Given the description of an element on the screen output the (x, y) to click on. 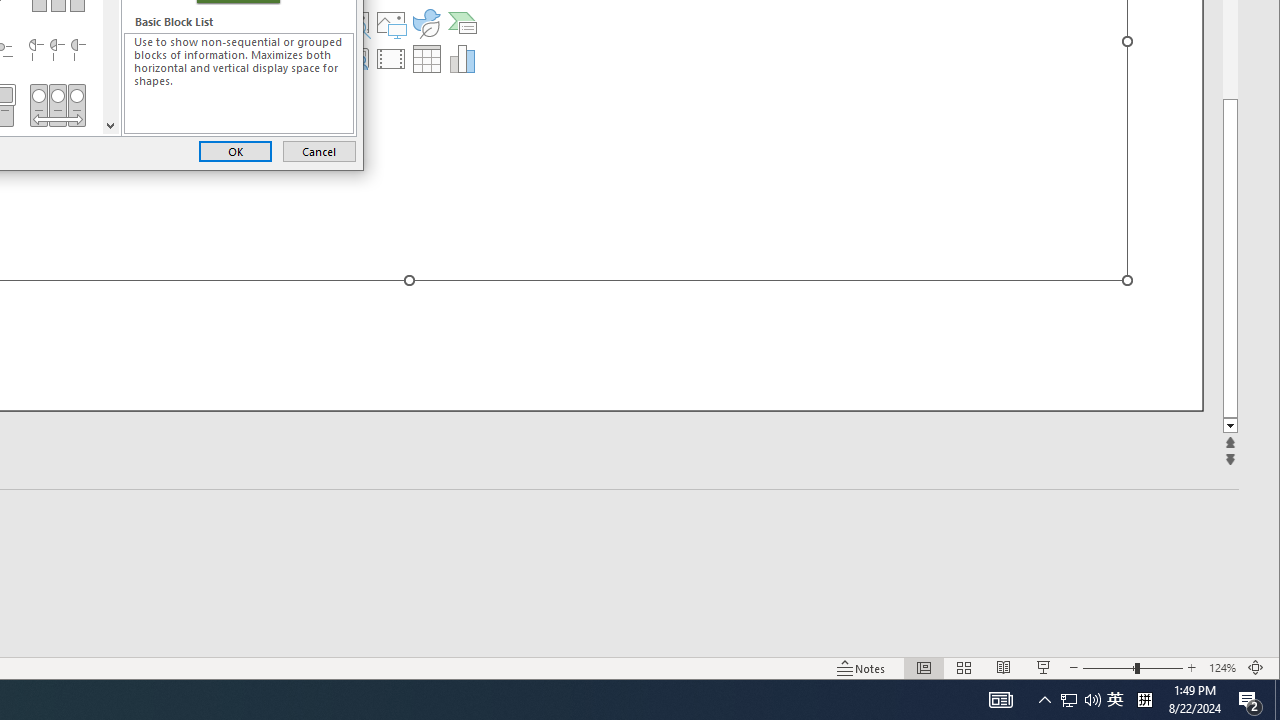
AutomationID: 4105 (1000, 699)
Line down (1115, 699)
Show desktop (110, 124)
Insert Video (1277, 699)
Q2790: 100% (391, 58)
Notes  (1092, 699)
Insert Chart (861, 668)
User Promoted Notification Area (462, 58)
OK (1080, 699)
Notification Chevron (235, 150)
